Given the description of an element on the screen output the (x, y) to click on. 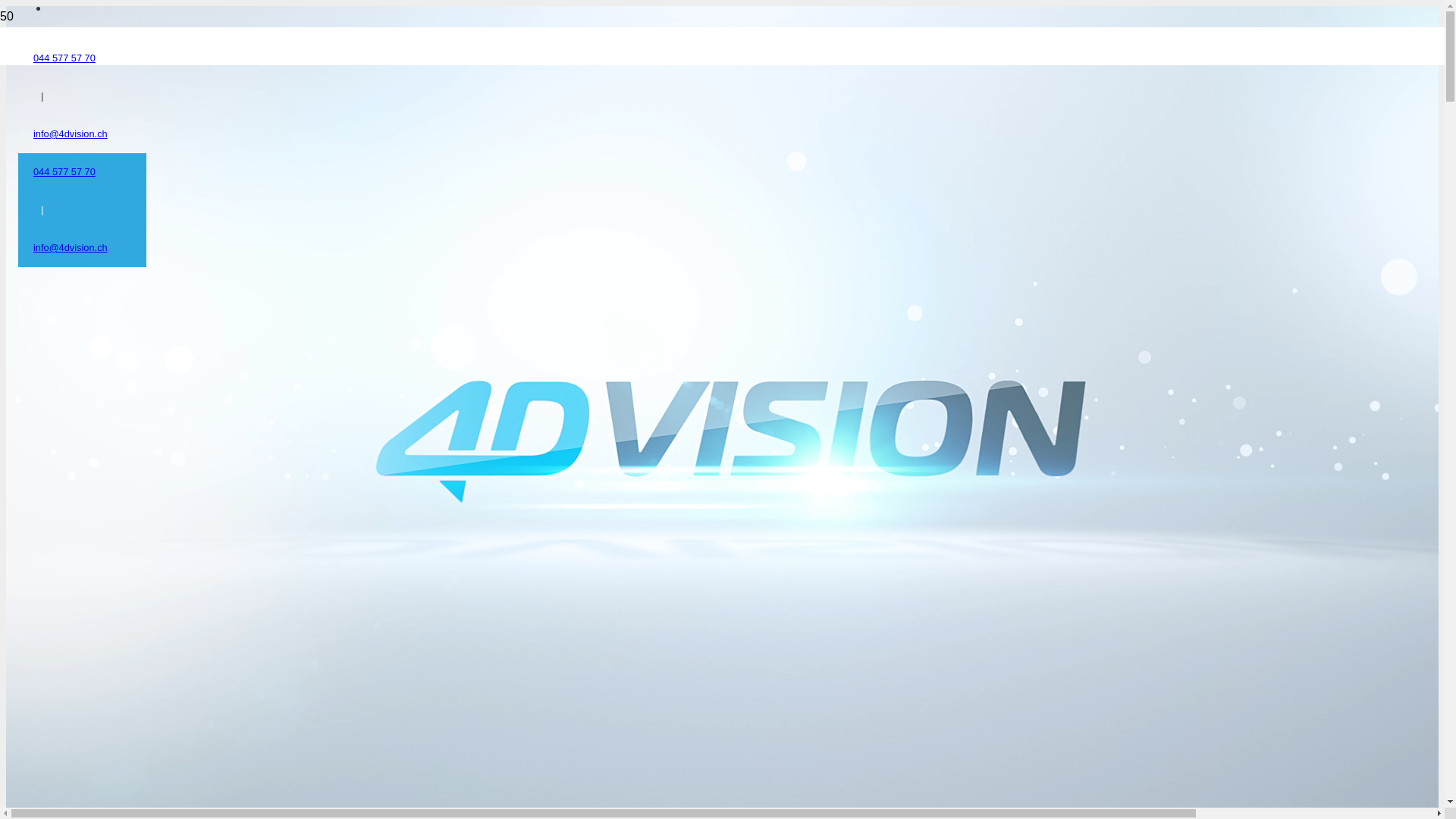
info@4dvision.ch Element type: text (70, 133)
044 577 57 70 Element type: text (64, 171)
info@4dvision.ch Element type: text (70, 247)
044 577 57 70 Element type: text (64, 57)
